Given the description of an element on the screen output the (x, y) to click on. 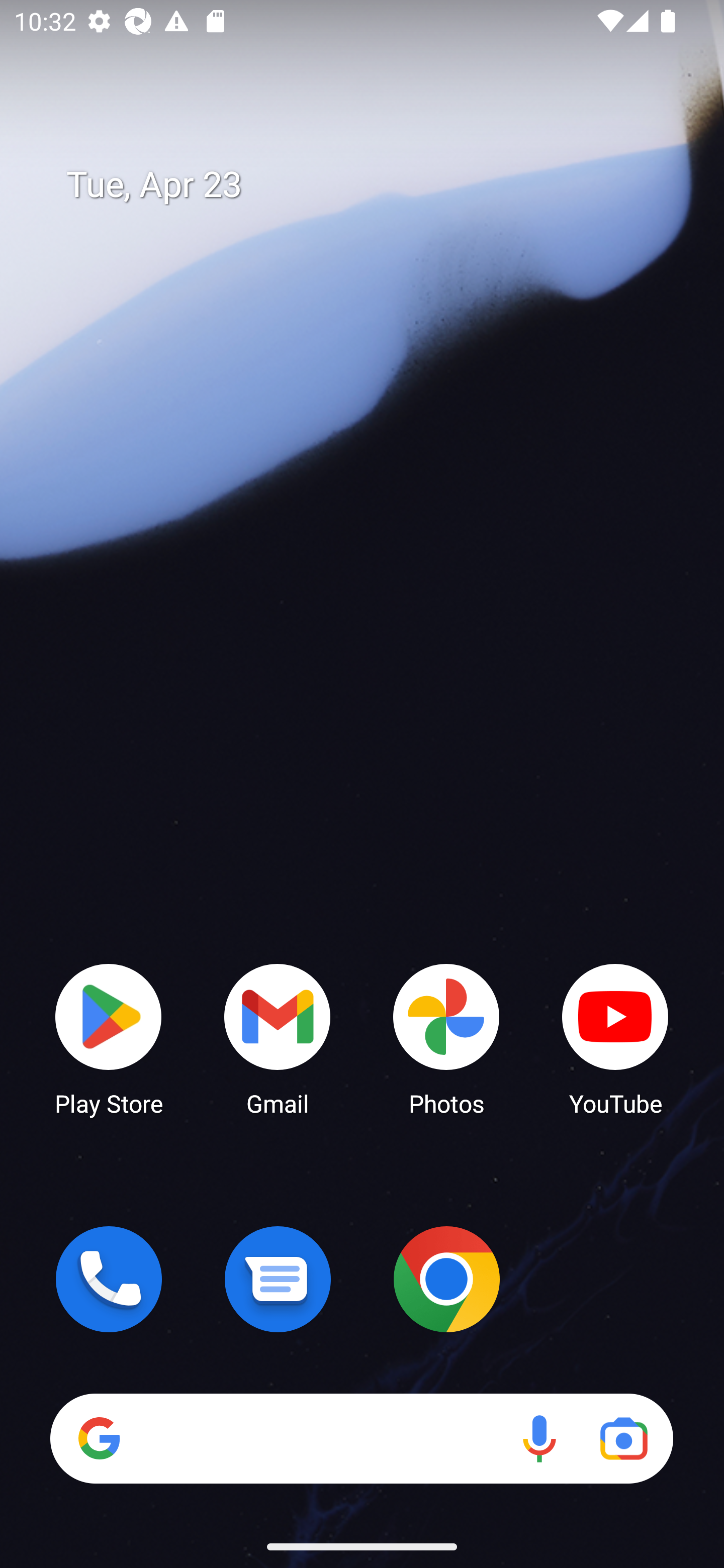
Tue, Apr 23 (375, 184)
Play Store (108, 1038)
Gmail (277, 1038)
Photos (445, 1038)
YouTube (615, 1038)
Phone (108, 1279)
Messages (277, 1279)
Chrome (446, 1279)
Search Voice search Google Lens (361, 1438)
Voice search (539, 1438)
Google Lens (623, 1438)
